Given the description of an element on the screen output the (x, y) to click on. 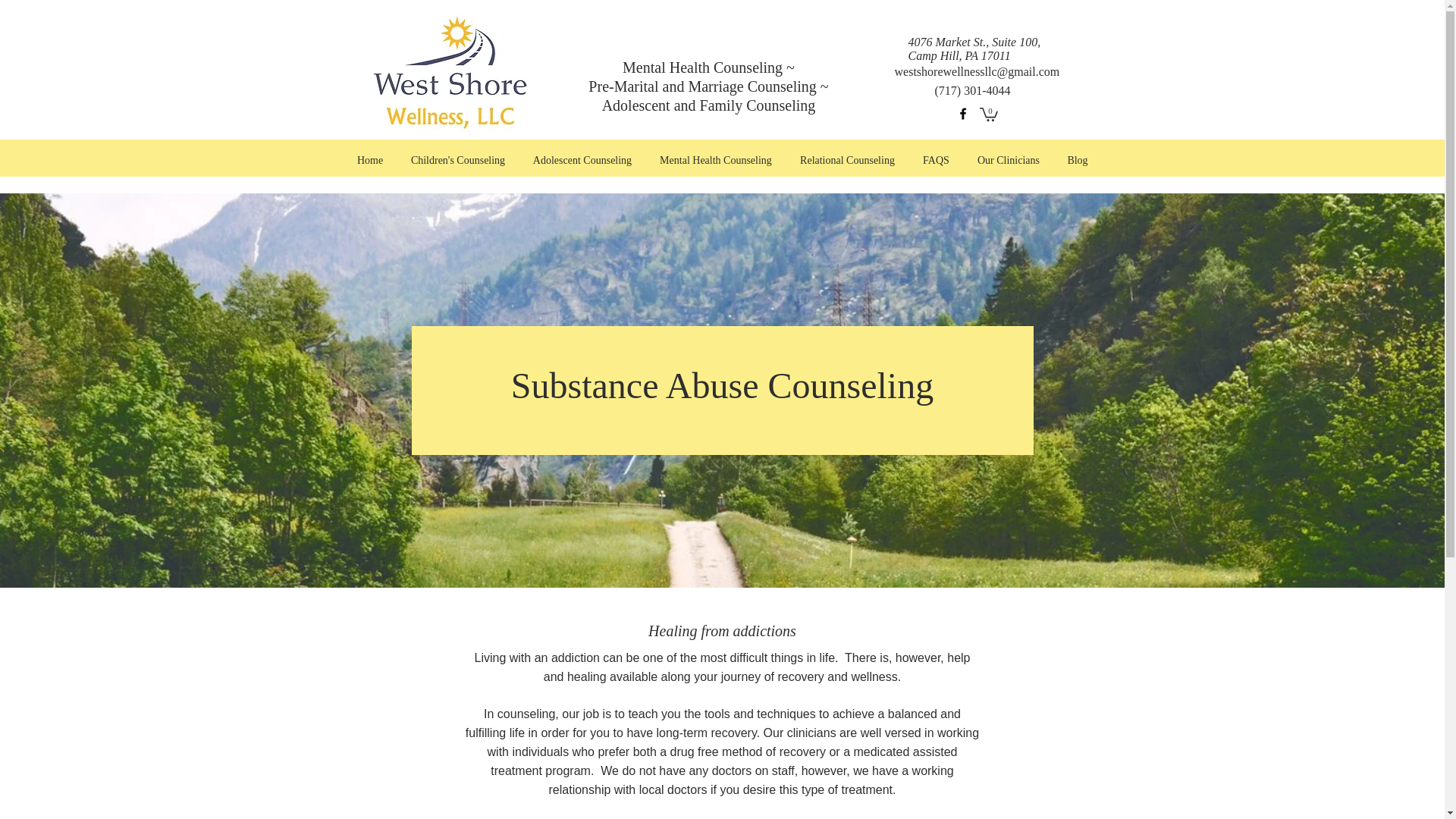
0 (988, 113)
Our Clinicians (1007, 160)
Adolescent Counseling (581, 160)
0 (988, 113)
Children's Counseling (458, 160)
Relational Counseling (847, 160)
Mental Health Counseling (716, 160)
